Given the description of an element on the screen output the (x, y) to click on. 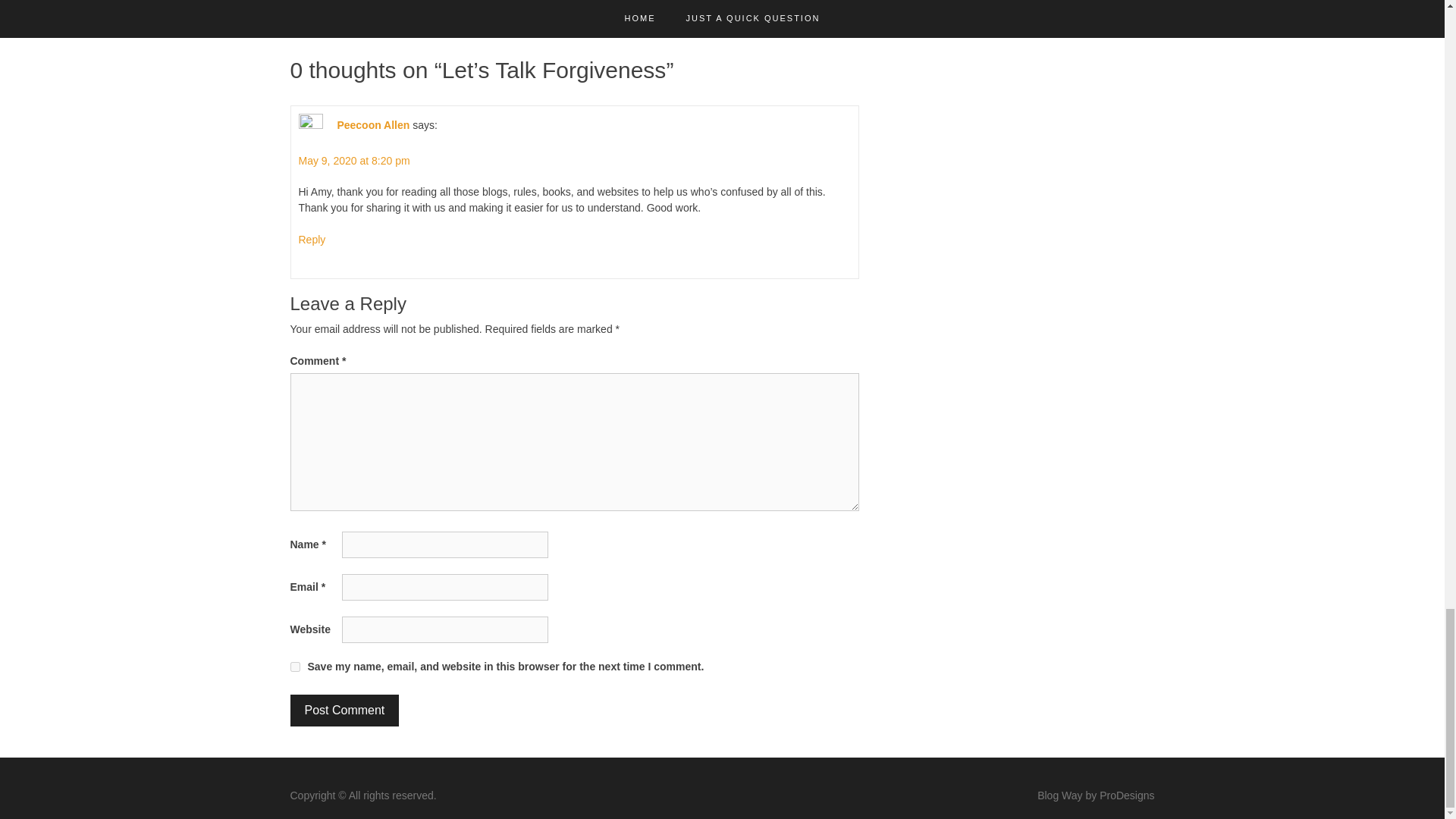
Got Stimulus Questions? Here Are Some FAQs (430, 11)
yes (294, 666)
Reply (312, 239)
Post Comment (343, 710)
May 9, 2020 at 8:20 pm (354, 160)
Planning; It Is About Taming Chaos (750, 11)
Peecoon Allen (372, 124)
Post Comment (343, 710)
ProDesigns (1126, 795)
